Given the description of an element on the screen output the (x, y) to click on. 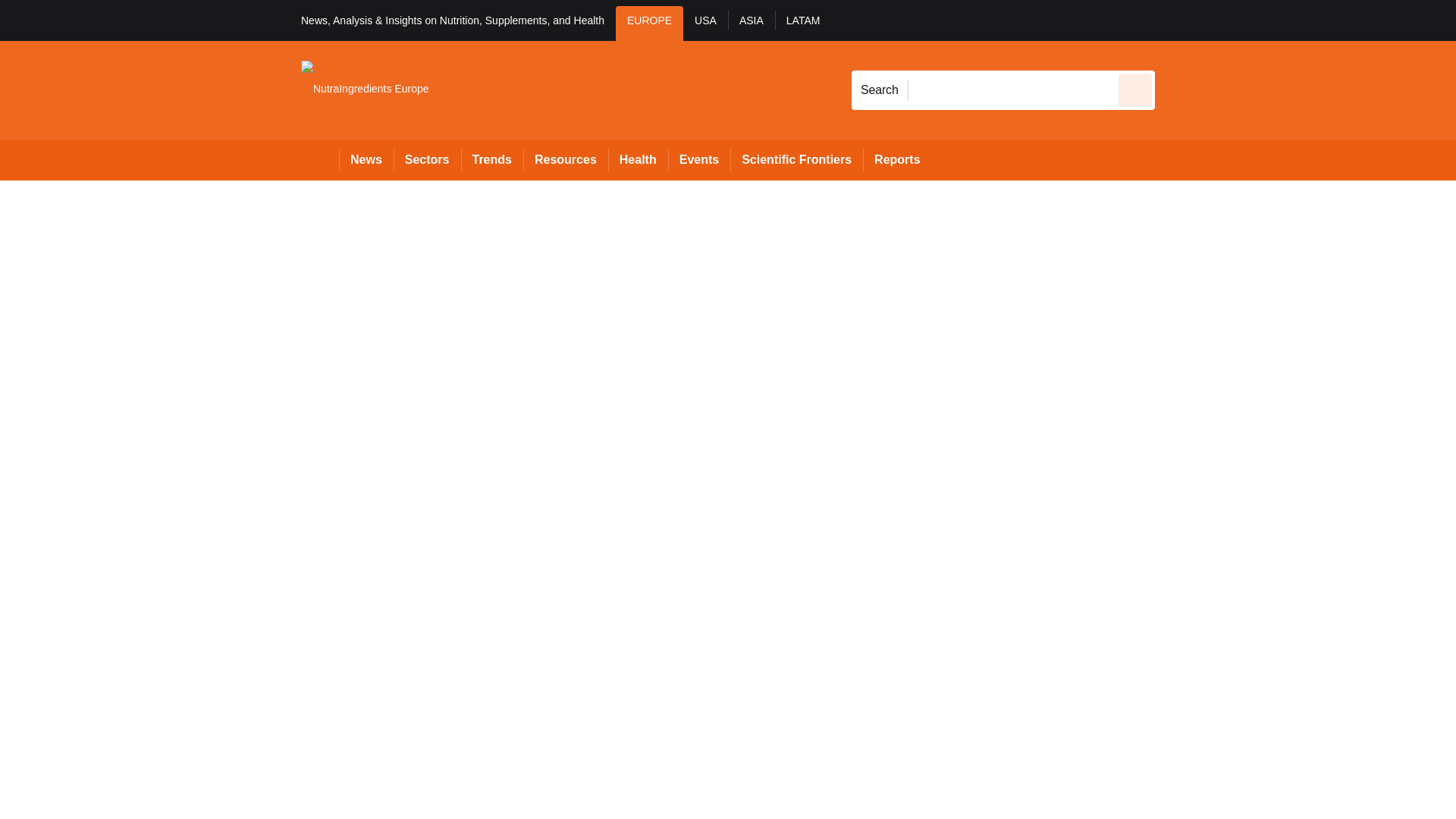
EUROPE (648, 22)
Sign out (1179, 20)
Send (1134, 90)
SUBSCRIBE (1367, 20)
Home (320, 159)
USA (705, 22)
Register (1237, 20)
LATAM (802, 22)
Send (1134, 89)
My account (1261, 20)
ASIA (751, 22)
NutraIngredients Europe (365, 89)
Sign in (1176, 20)
SUBSCRIBE (1324, 20)
